Given the description of an element on the screen output the (x, y) to click on. 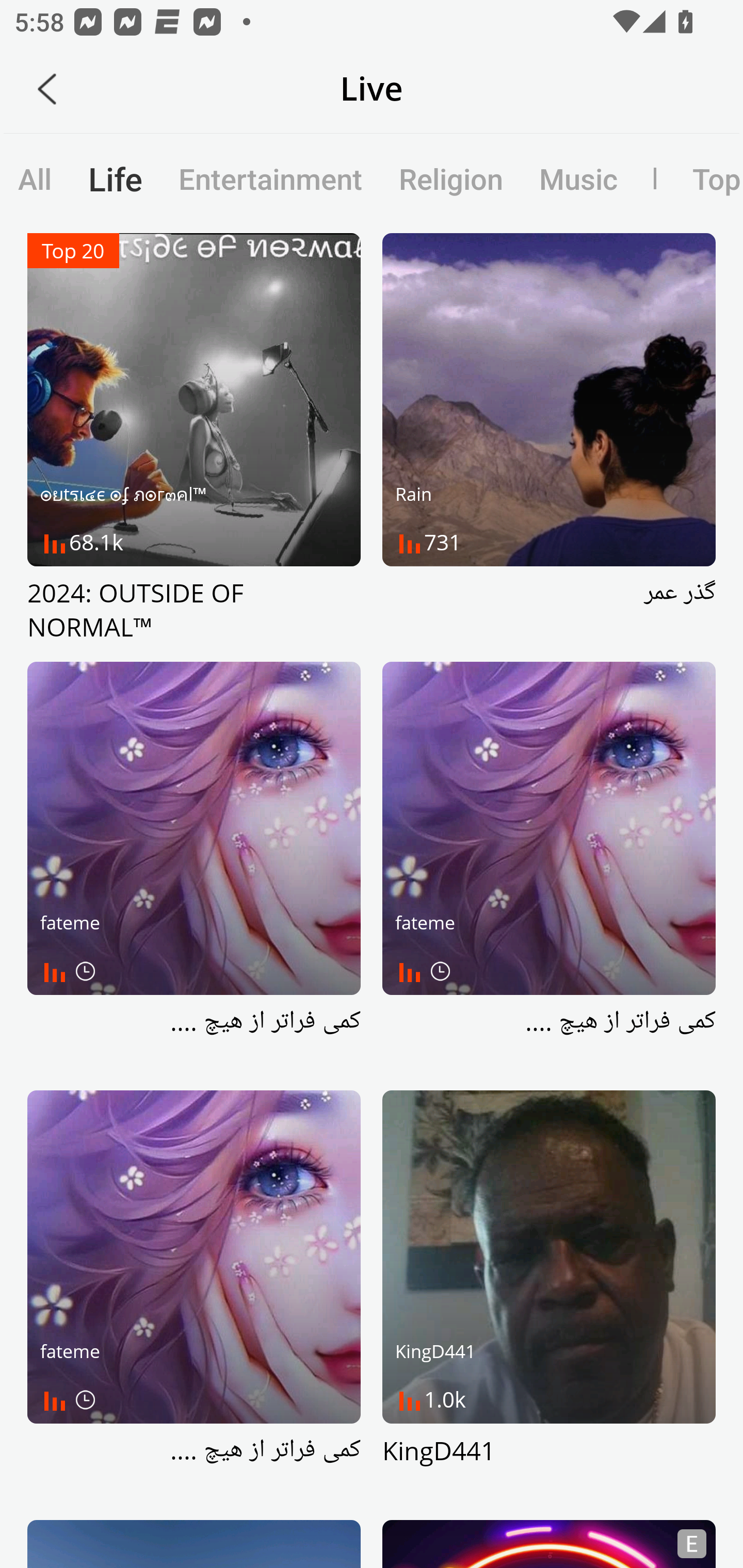
Back (46, 88)
All (34, 178)
Entertainment (270, 178)
Religion (450, 178)
Music (578, 178)
Rain 731 گذر عمر  (548, 438)
fateme کمی فراتر از هیچ .... (193, 866)
fateme کمی فراتر از هیچ .... (548, 866)
fateme کمی فراتر از هیچ .... (193, 1295)
KingD441 1.0k KingD441  (548, 1295)
